Given the description of an element on the screen output the (x, y) to click on. 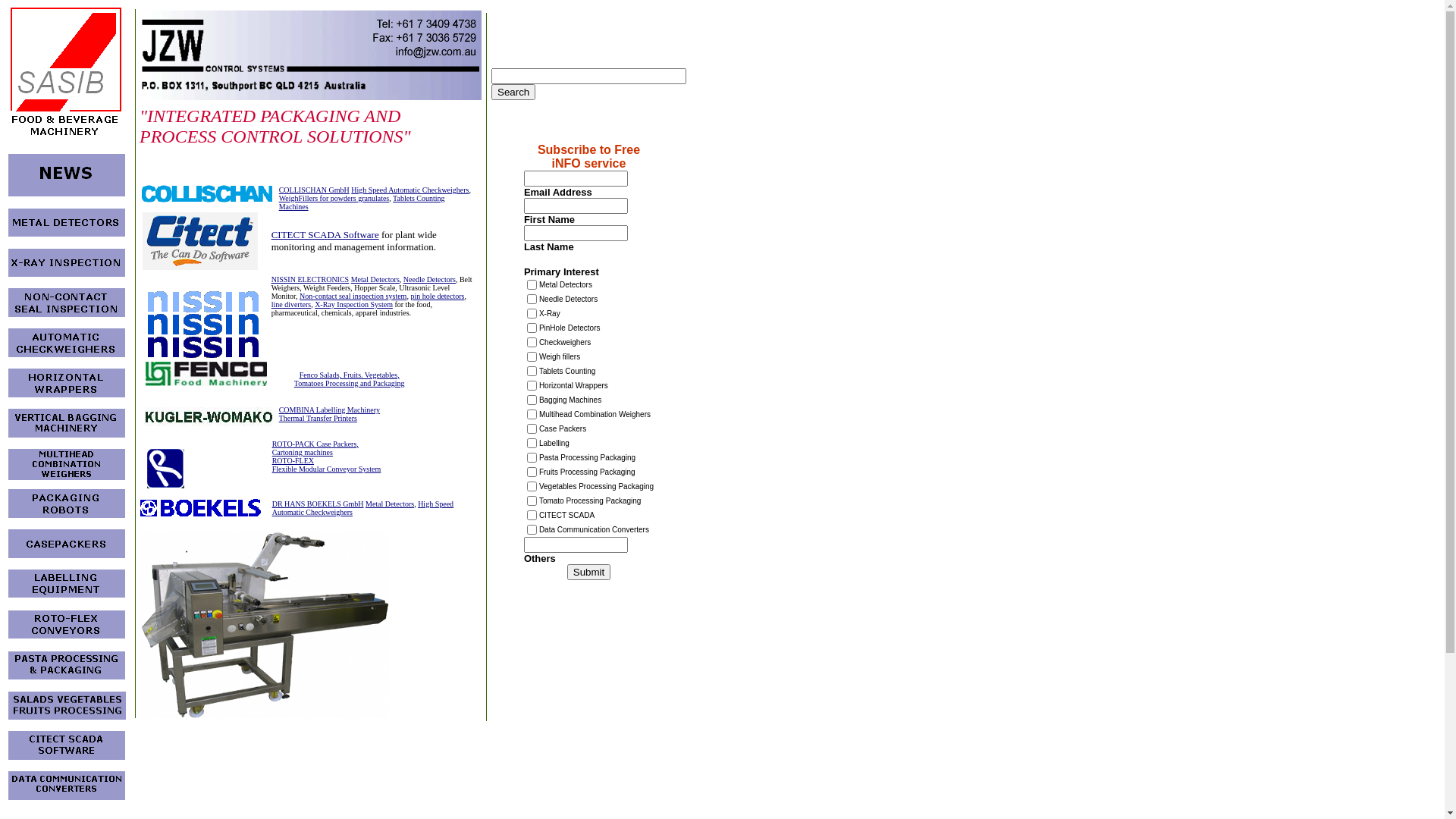
ROTO-FLEX Element type: text (292, 460)
pin hole detectors Element type: text (437, 295)
DR HANS BOEKELS GmbH Element type: text (318, 503)
Submit Element type: text (588, 572)
ROTO-PACK Case Packers, Element type: text (315, 443)
Flexible Modular Conveyor System Element type: text (326, 468)
X-Ray Inspection System Element type: text (353, 304)
Tablets Counting Machines Element type: text (362, 202)
Metal Detectors Element type: text (375, 279)
NISSIN ELECTRONICS Element type: text (310, 279)
High Speed Automatic Checkweighers Element type: text (409, 189)
Metal Detectors Element type: text (389, 503)
High Speed Automatic Checkweighers Element type: text (362, 507)
CITECT SCADA Software Element type: text (325, 234)
Cartoning machines Element type: text (302, 452)
line diverters Element type: text (290, 304)
COLLISCHAN GmbH Element type: text (314, 189)
WeighFillers for powders granulates Element type: text (334, 198)
Search Element type: text (513, 92)
Tomatoes Processing and Packaging Element type: text (349, 383)
COMBINA Labelling Machinery Element type: text (329, 409)
Thermal Transfer Printers Element type: text (318, 418)
Non-contact seal inspection system Element type: text (352, 295)
Fenco Salads, Fruits. Vegetables, Element type: text (349, 374)
Needle Detectors Element type: text (429, 279)
